Given the description of an element on the screen output the (x, y) to click on. 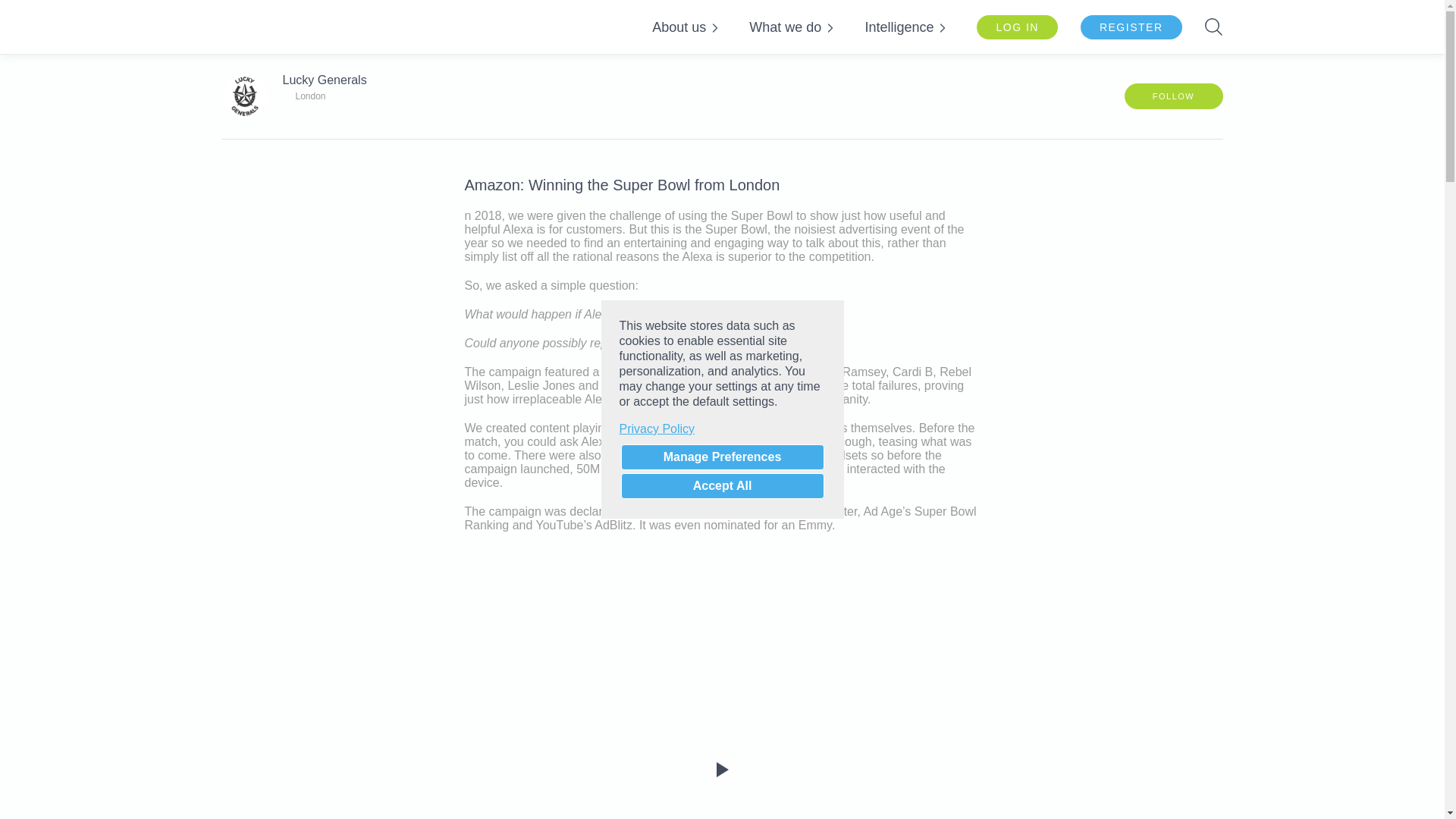
What we do (783, 27)
Manage Preferences (722, 457)
LOG IN (1016, 27)
Intelligence (897, 27)
Privacy Policy (721, 428)
Accept All (722, 485)
REGISTER (1131, 27)
About us (677, 27)
